Given the description of an element on the screen output the (x, y) to click on. 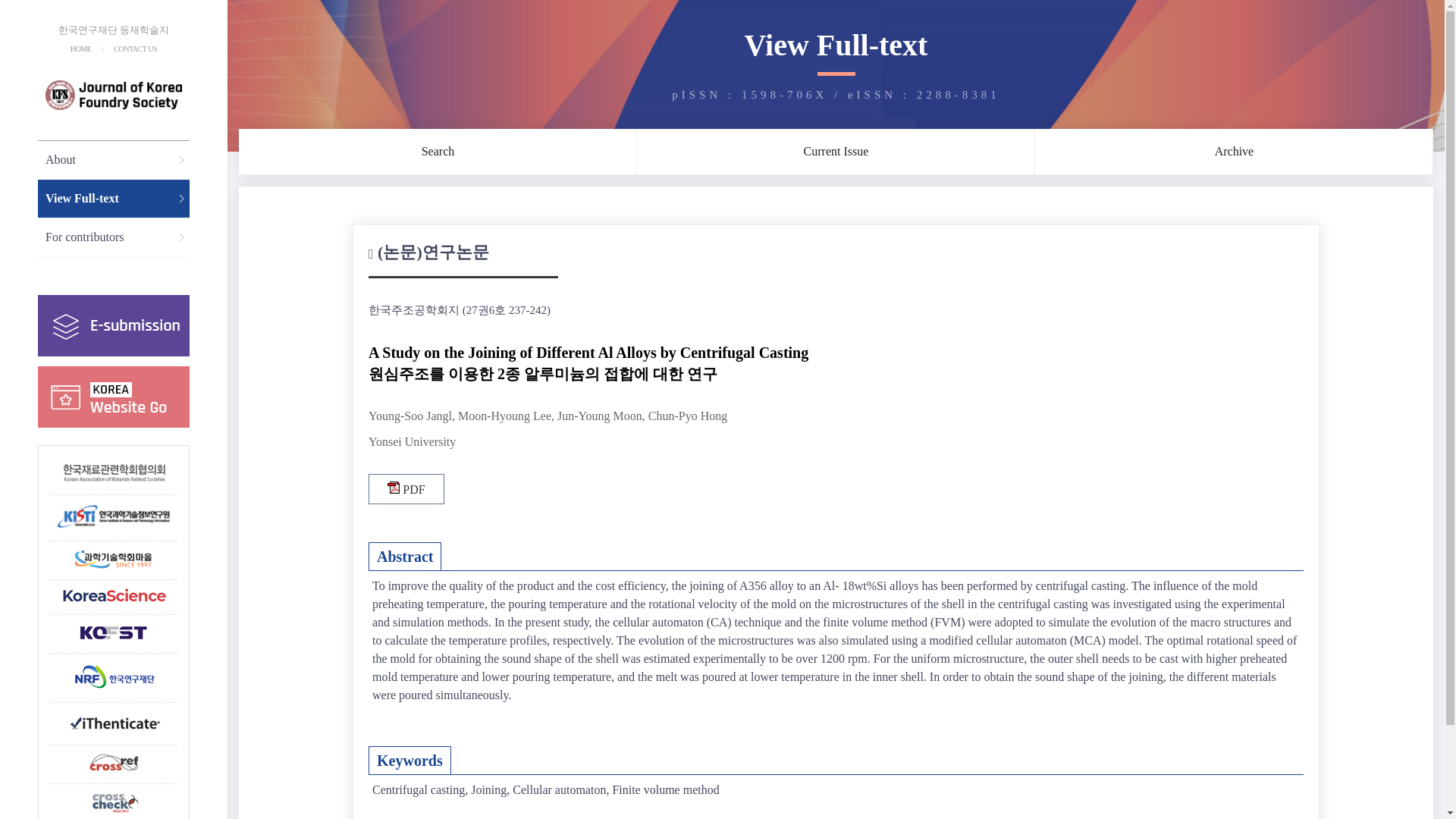
HOME (79, 48)
PDF (406, 489)
Current Issue (836, 151)
CONTACT US (135, 48)
Search (437, 151)
Go to Home (113, 94)
Archive (1233, 151)
